Given the description of an element on the screen output the (x, y) to click on. 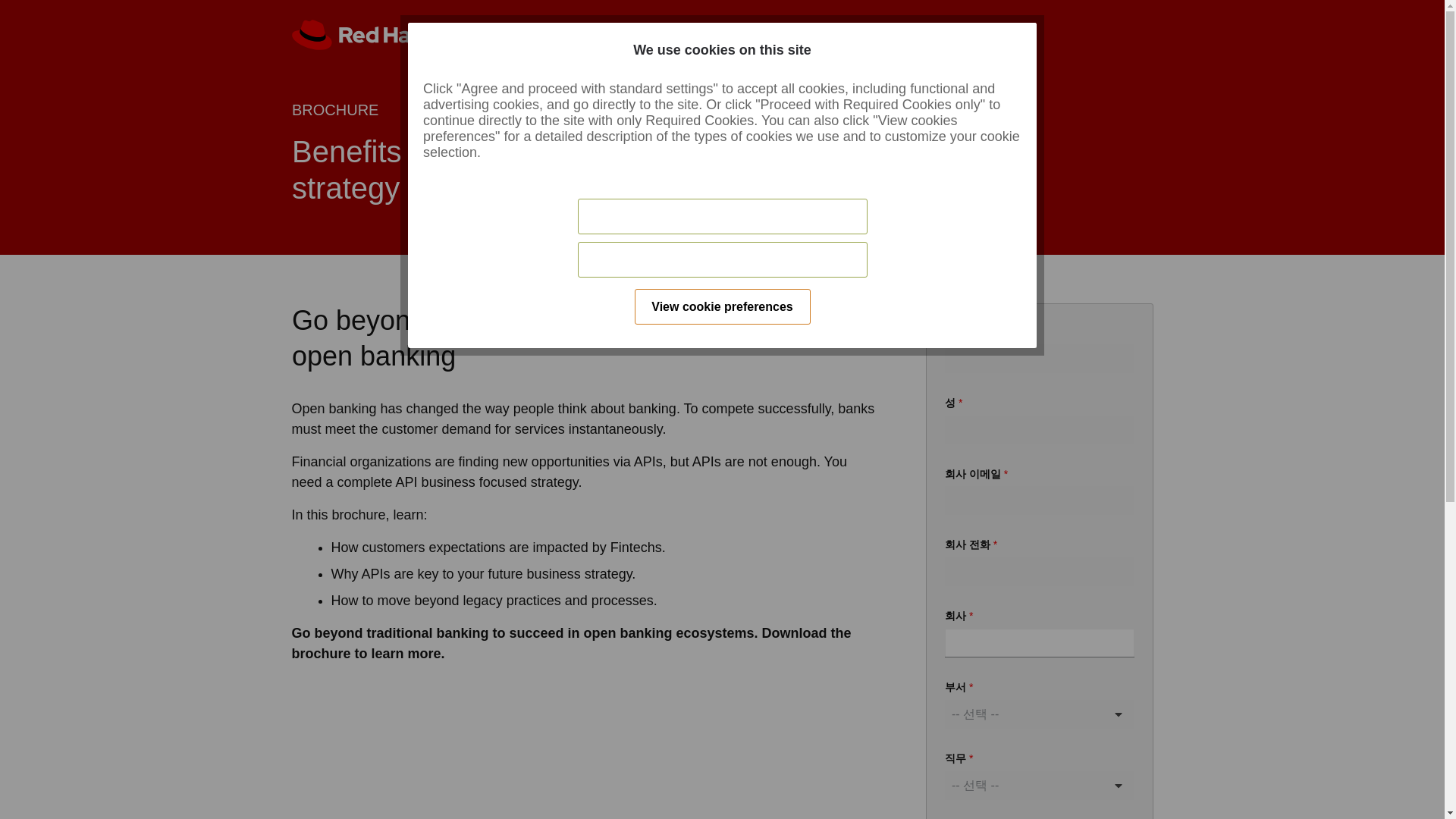
Red Hat homepage (574, 34)
